Given the description of an element on the screen output the (x, y) to click on. 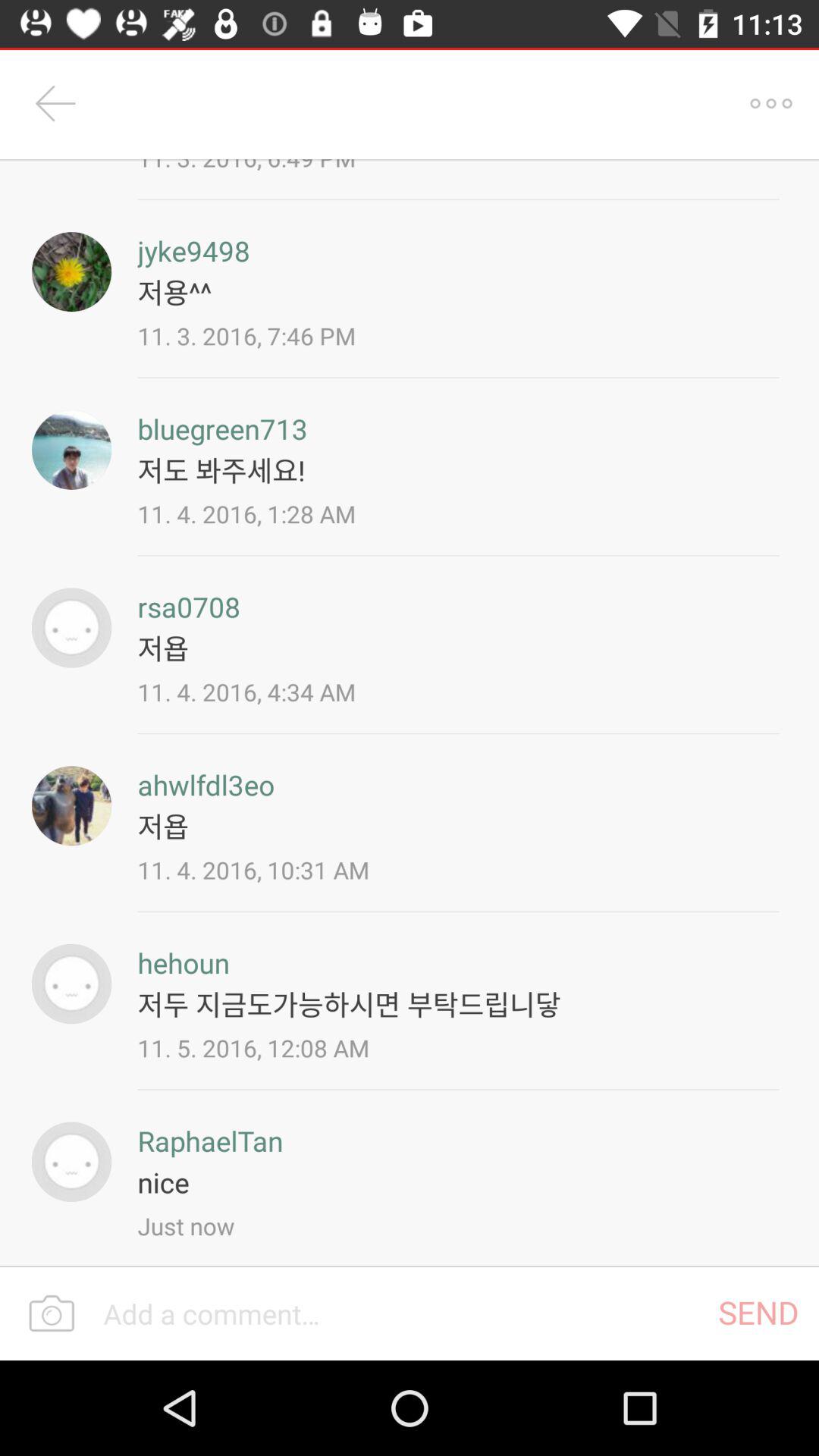
scroll to the raphaeltan icon (210, 1140)
